Given the description of an element on the screen output the (x, y) to click on. 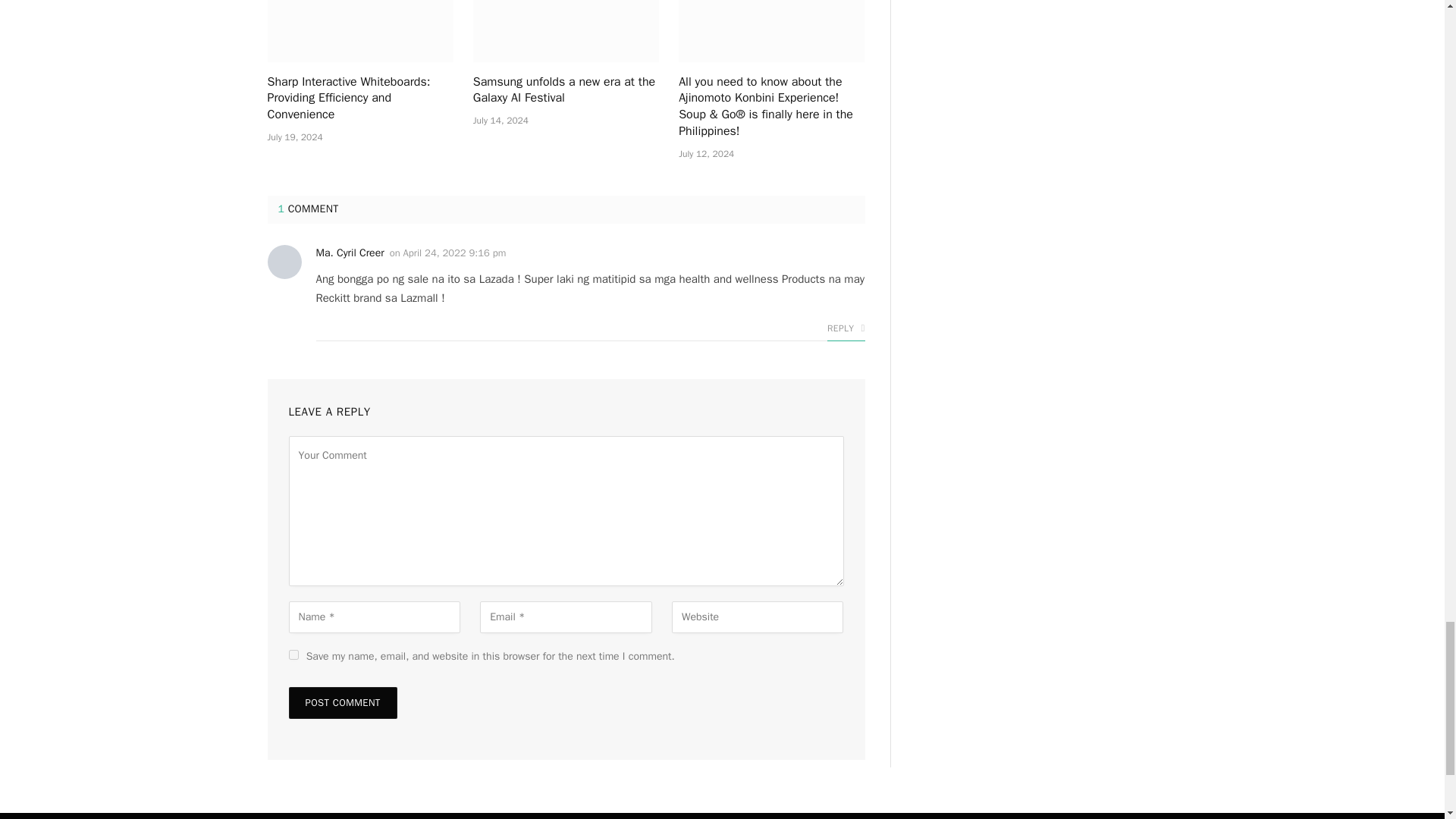
Post Comment (342, 703)
yes (293, 654)
